Given the description of an element on the screen output the (x, y) to click on. 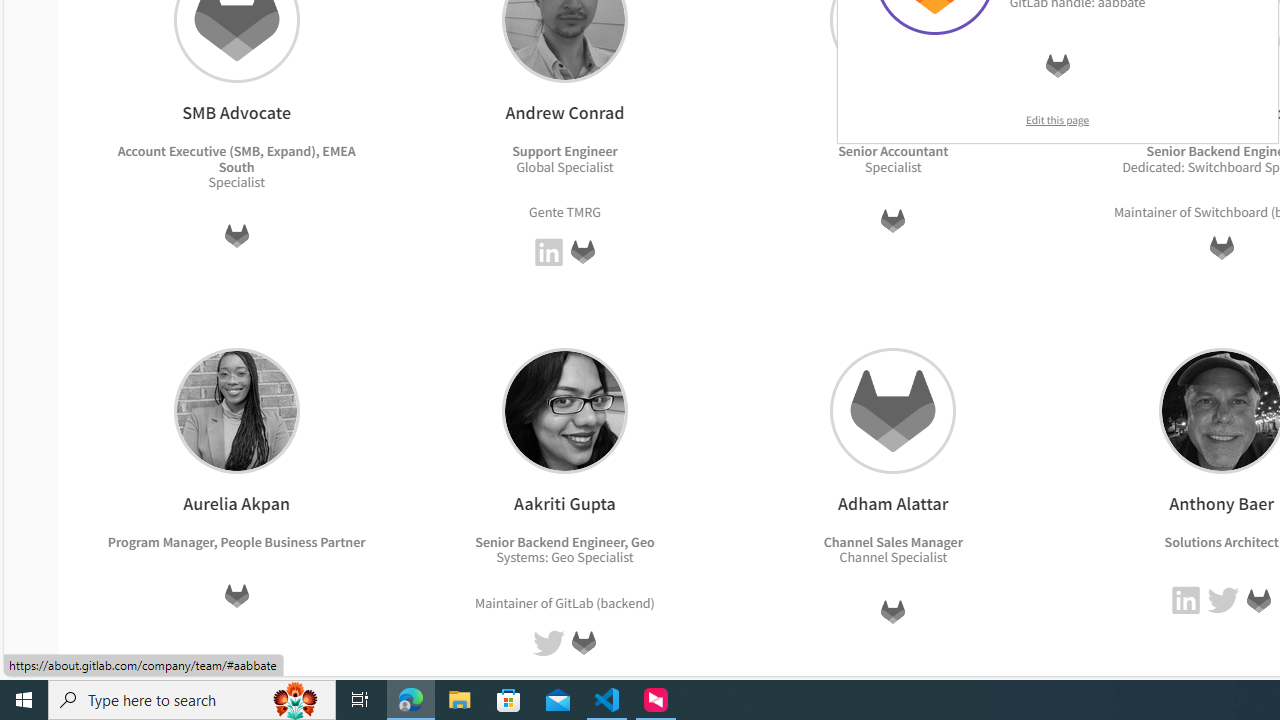
Senior Backend Engineer, Geo (564, 541)
Aakriti Gupta (564, 410)
Adham Alattar (893, 410)
Aakriti Gupta (564, 409)
GitLab (1258, 600)
Adham Alattar (893, 409)
Edit this page (1057, 119)
